Given the description of an element on the screen output the (x, y) to click on. 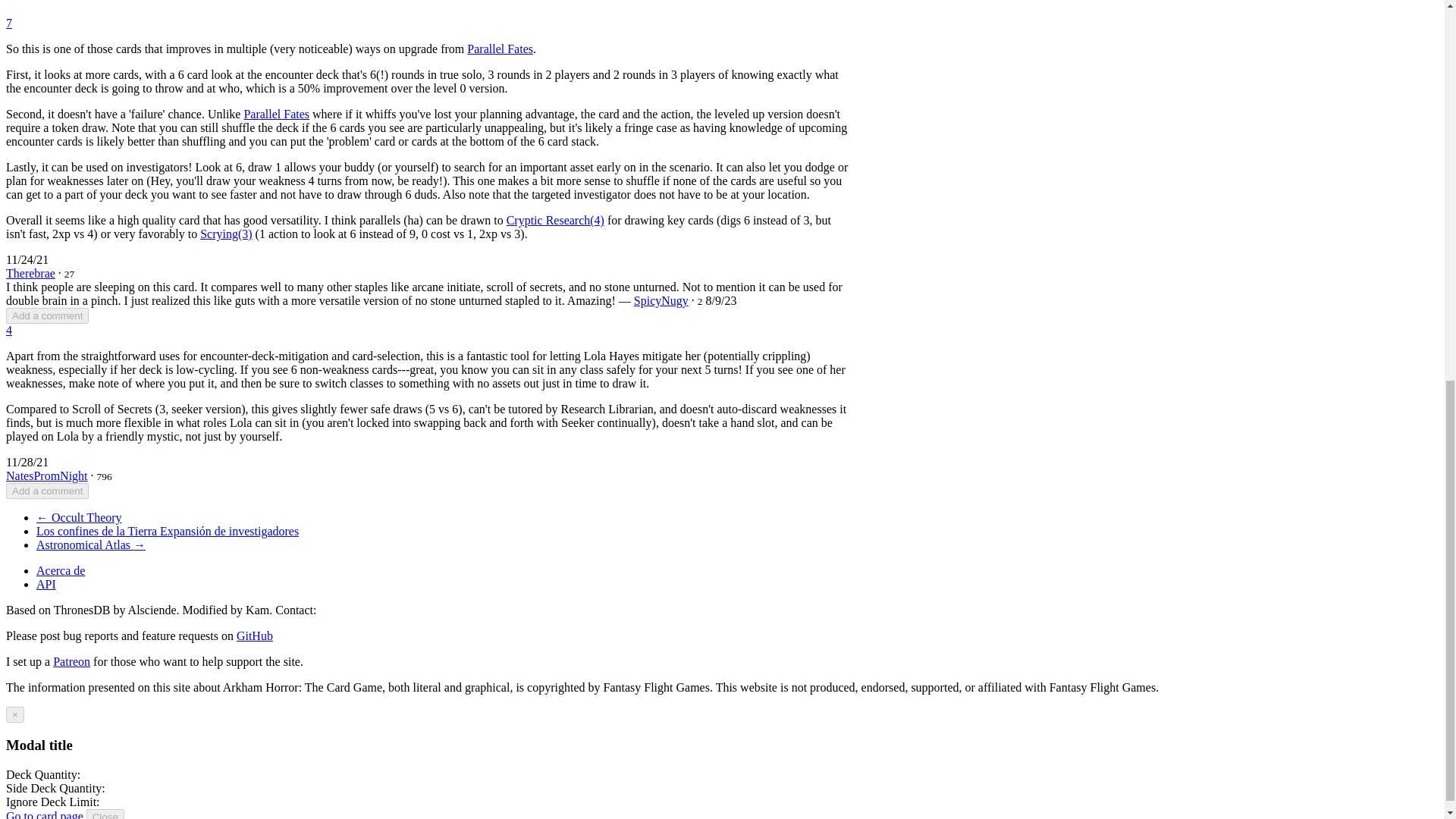
User Reputation (700, 301)
Parallel Fates (499, 48)
Parallel Fates (275, 113)
Like that review (8, 22)
4 (8, 329)
August 9th, 2023 (720, 300)
November 24th, 2021 (26, 259)
Add a comment (46, 315)
Add a comment (46, 490)
User Reputation (69, 274)
User Reputation (104, 476)
Therebrae (30, 273)
November 28th, 2021 (26, 461)
NatesPromNight (46, 475)
SpicyNugy (660, 300)
